Given the description of an element on the screen output the (x, y) to click on. 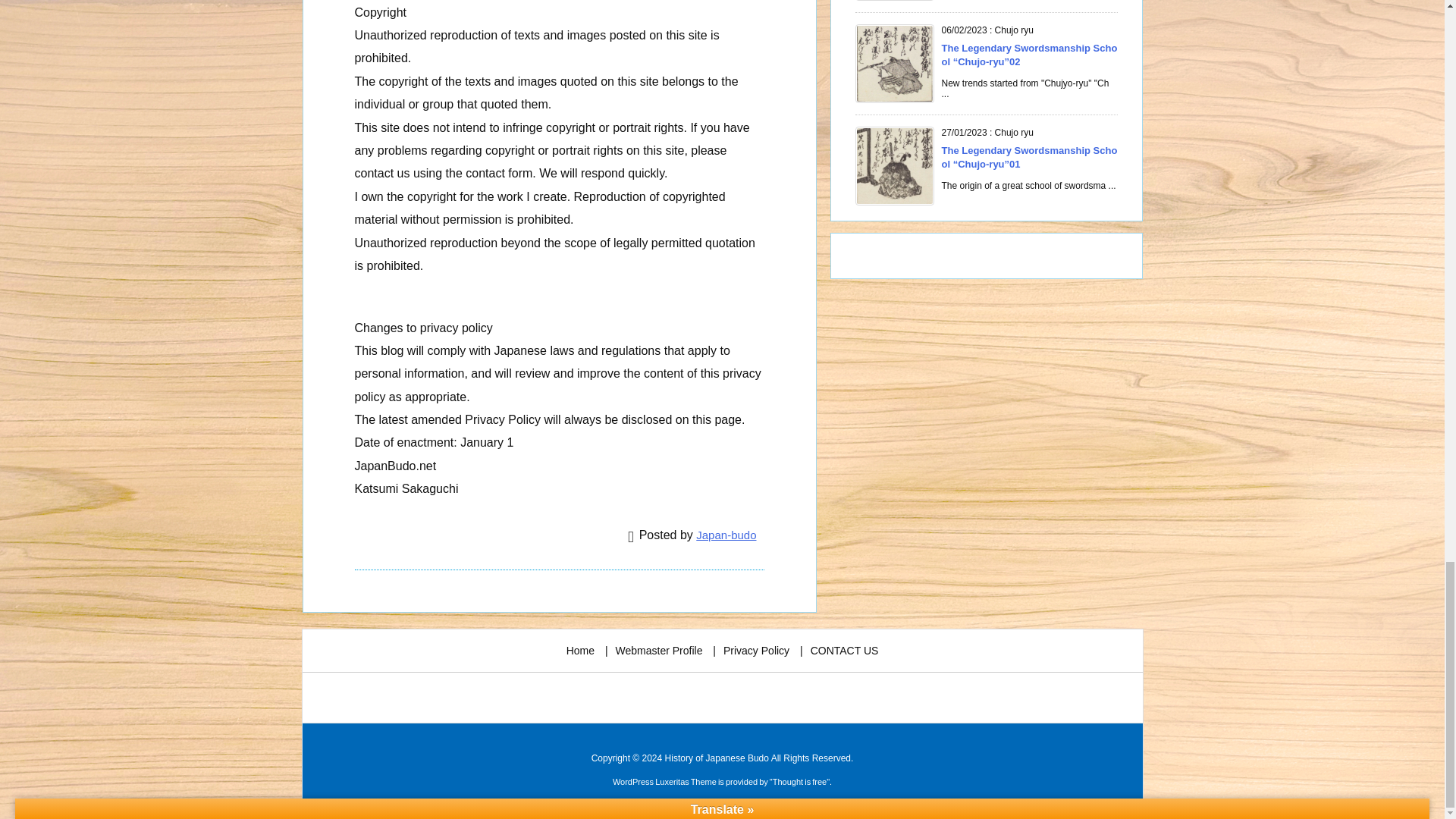
Webmaster Profile (659, 650)
Home (580, 650)
Privacy Policy (756, 650)
Japan-budo (725, 534)
